Given the description of an element on the screen output the (x, y) to click on. 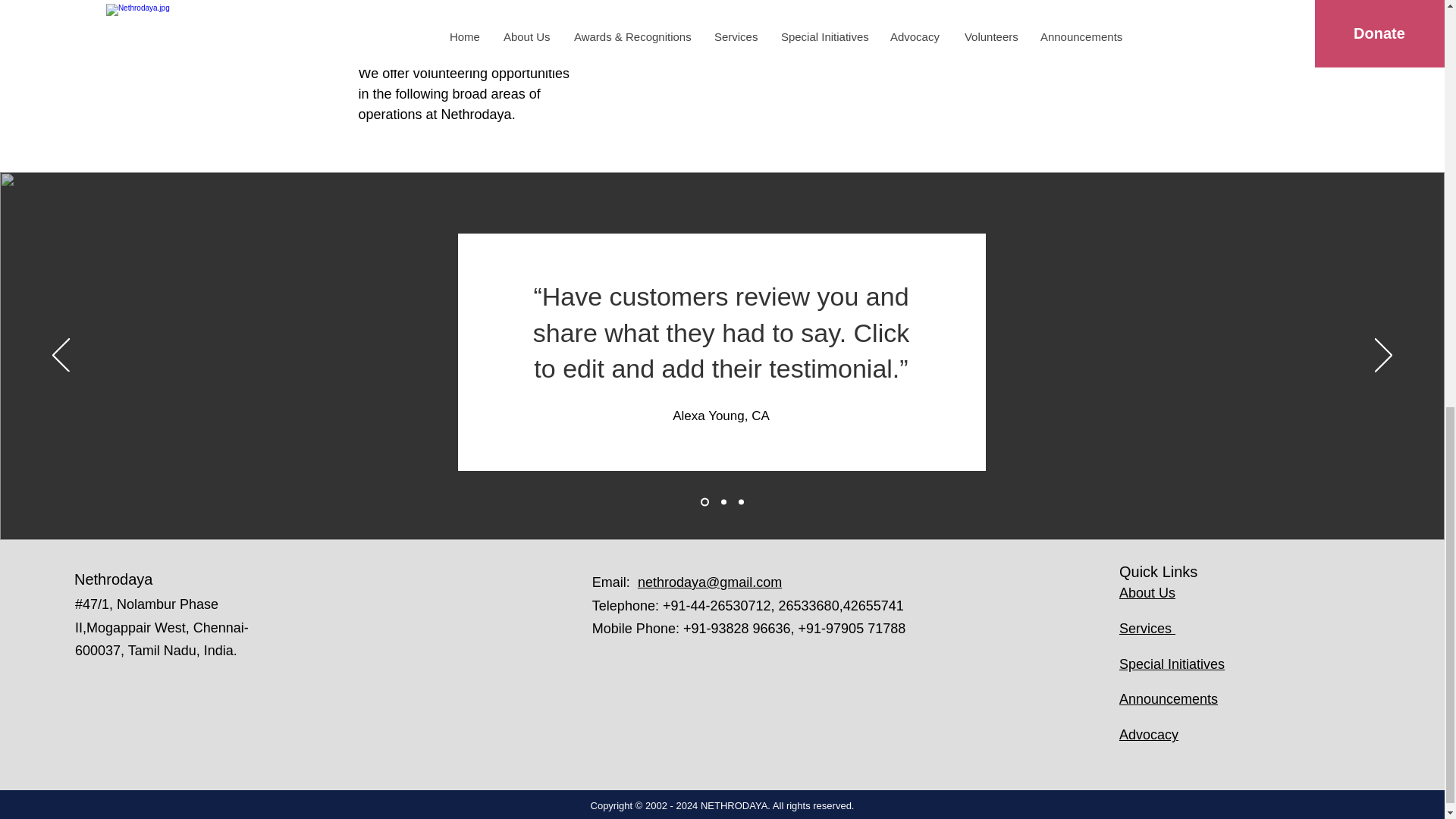
Special  (1143, 663)
Announcements (1168, 698)
Services  (1146, 628)
Initiatives (1195, 663)
About Us (1146, 592)
Advocacy (1148, 734)
